Given the description of an element on the screen output the (x, y) to click on. 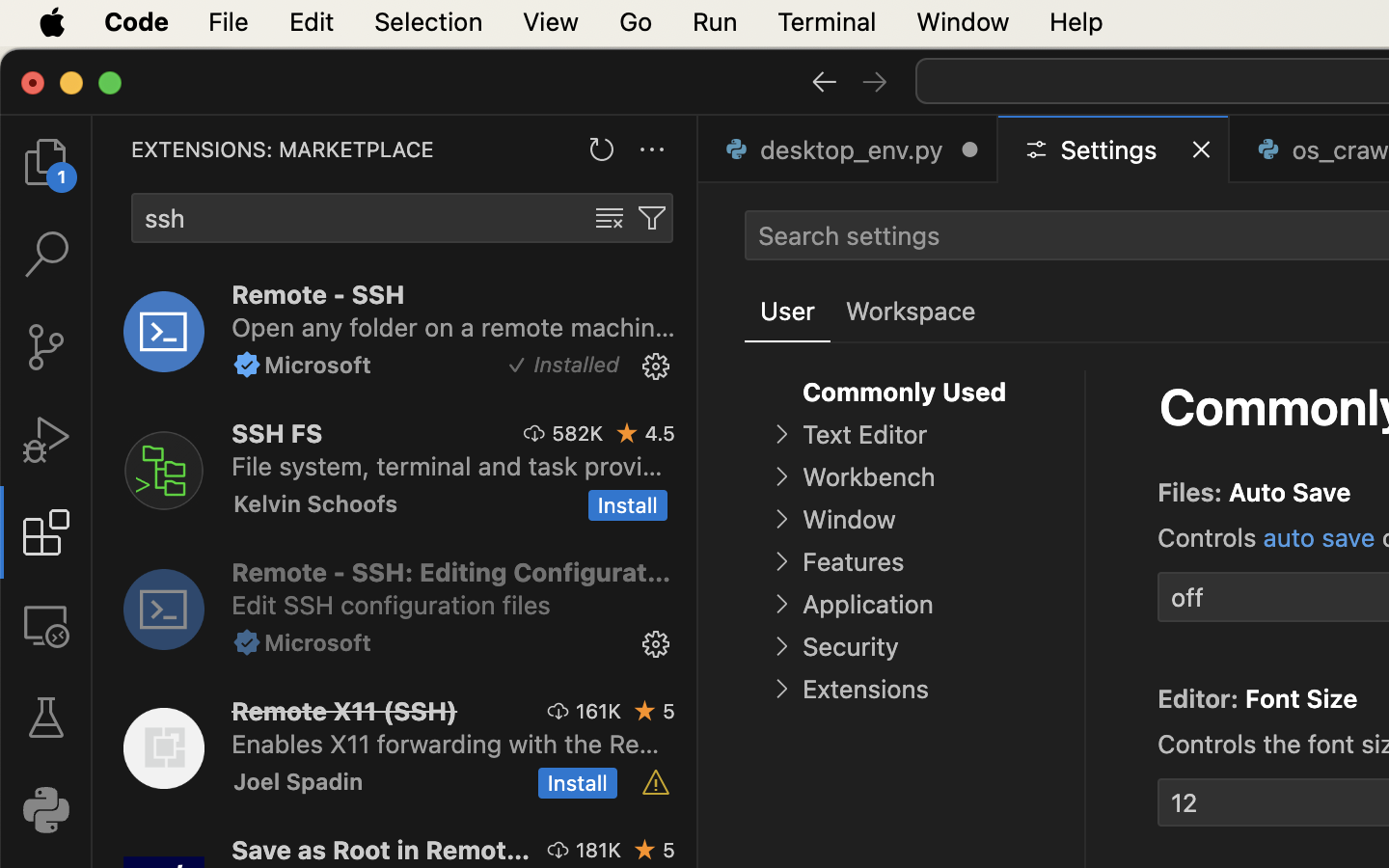
1 Element type: AXRadioButton (787, 311)
Application Element type: AXStaticText (867, 604)
Features Element type: AXStaticText (853, 561)
SSH FS Element type: AXStaticText (277, 432)
0 desktop_env.py   Element type: AXRadioButton (848, 149)
